Given the description of an element on the screen output the (x, y) to click on. 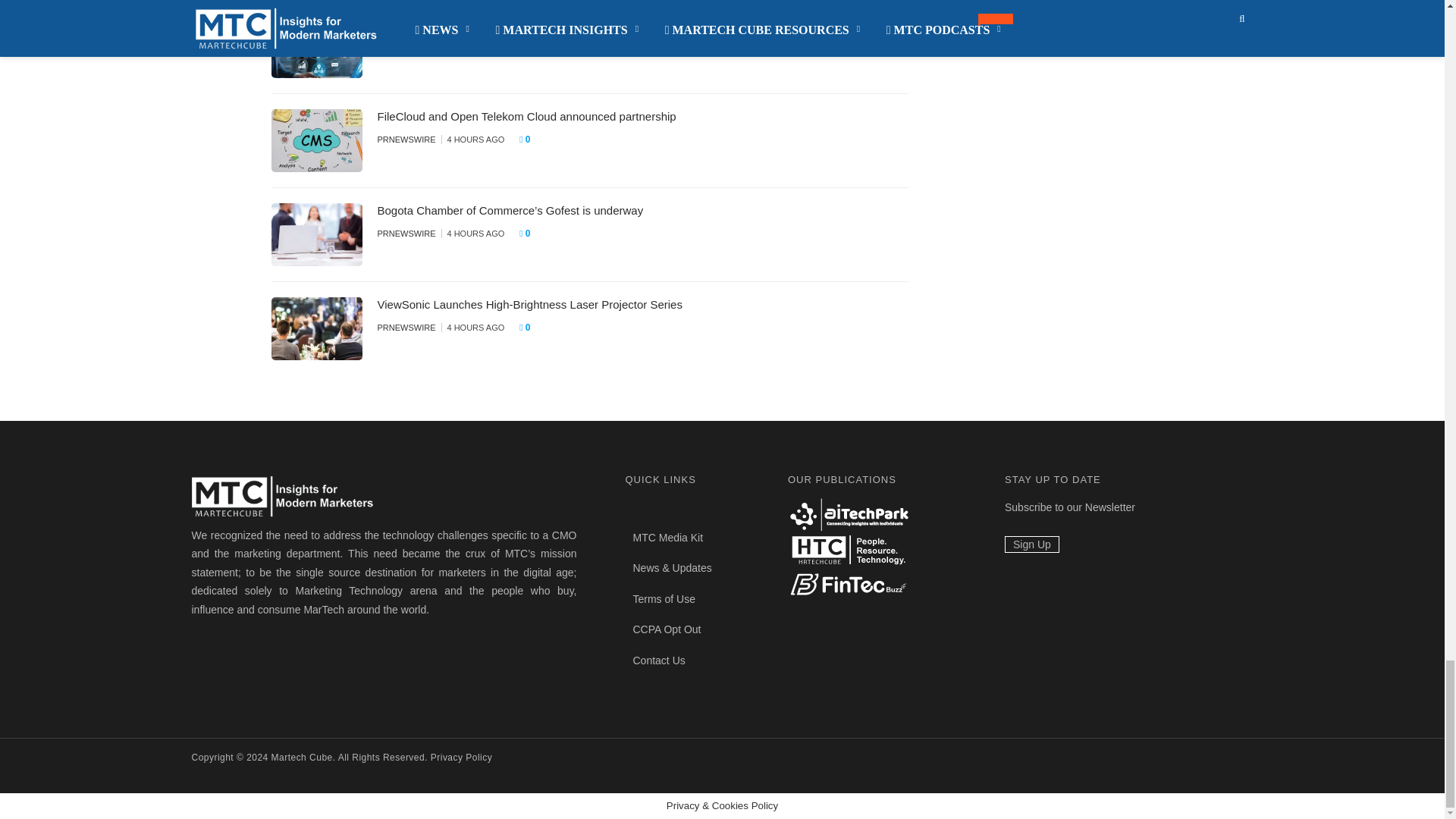
Comments (534, 45)
View DonorDrive Announces Conversion-Focused Enhancements (529, 21)
View all posts by BusinessWire (409, 44)
Comments (528, 139)
View FileCloud and Open Telekom Cloud announced partnership (527, 115)
View all posts by PRNewswire (406, 139)
